Given the description of an element on the screen output the (x, y) to click on. 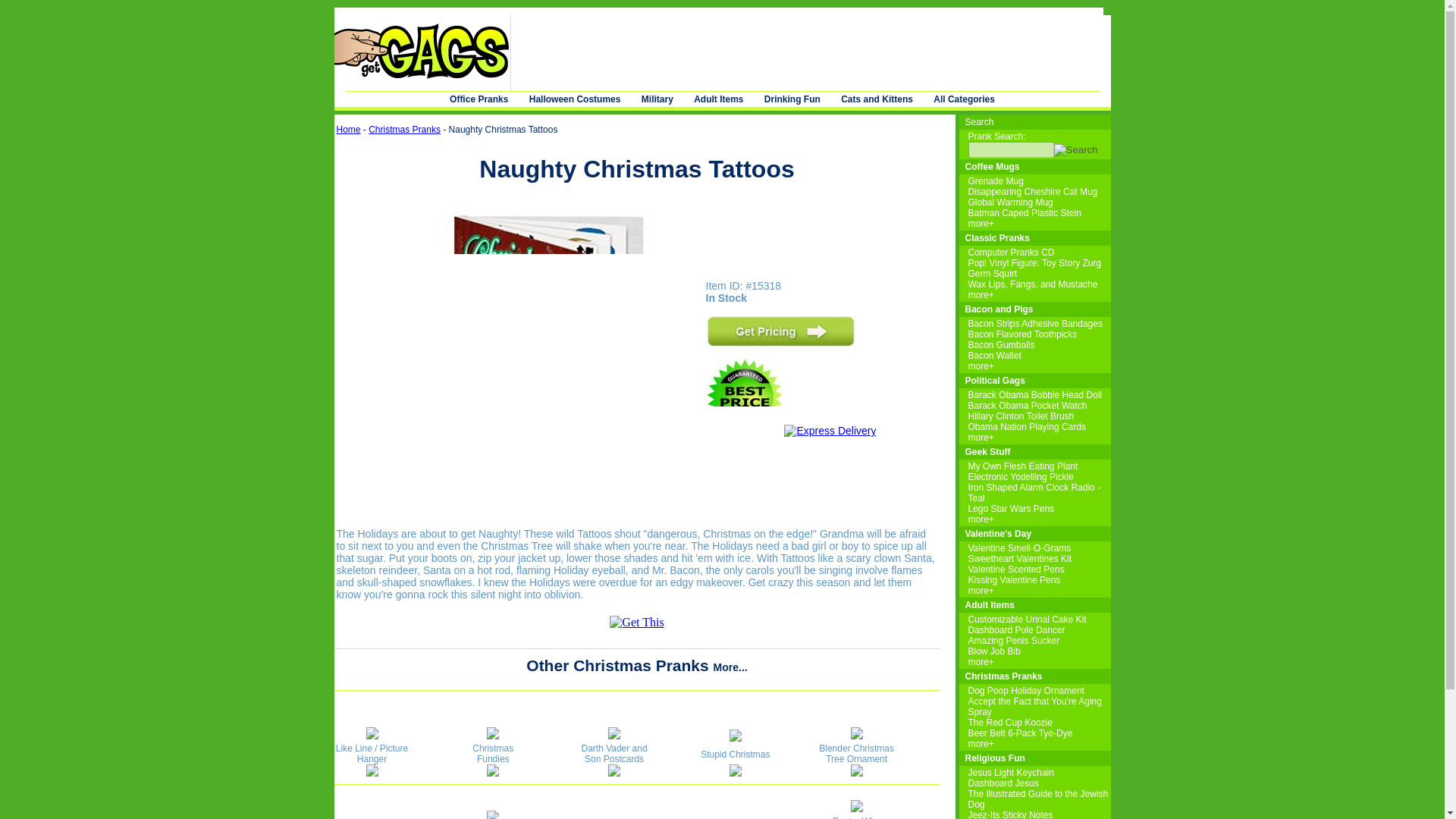
Drinking Fun (792, 99)
Christmas Pranks (404, 129)
Halloween Costumes (574, 99)
Military (656, 99)
Home (348, 129)
Military (656, 99)
Home (348, 129)
Office Pranks (478, 99)
Halloween Costumes (574, 99)
Naughty Christmas Tattoos (781, 343)
